Given the description of an element on the screen output the (x, y) to click on. 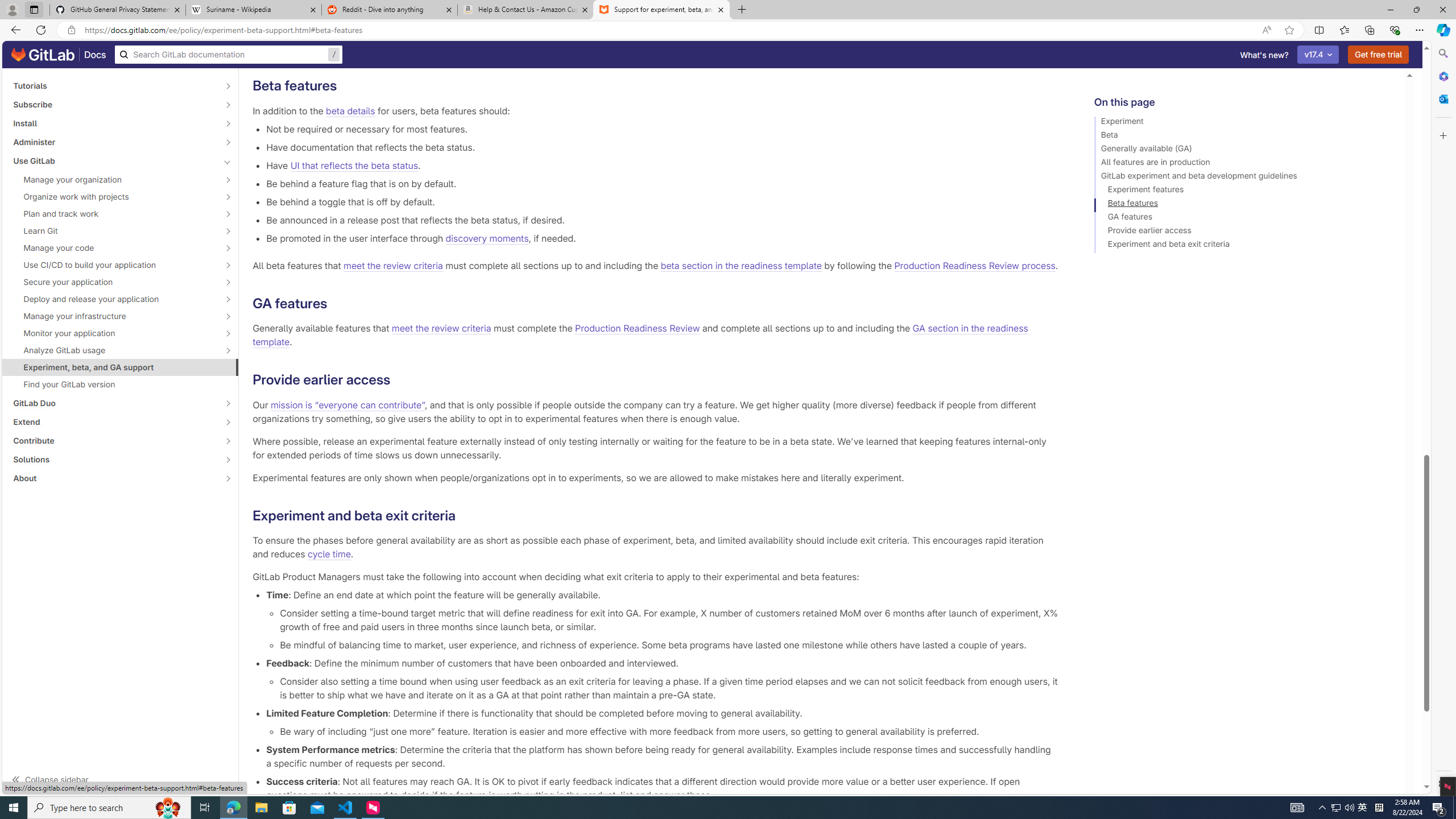
Tutorials (113, 85)
experiment section in the readiness template (833, 47)
Have documentation that reflects the beta status. (662, 146)
Contribute (113, 440)
Deploy and release your application (113, 298)
Production Readiness Review (637, 328)
beta section in the readiness template (741, 265)
